Given the description of an element on the screen output the (x, y) to click on. 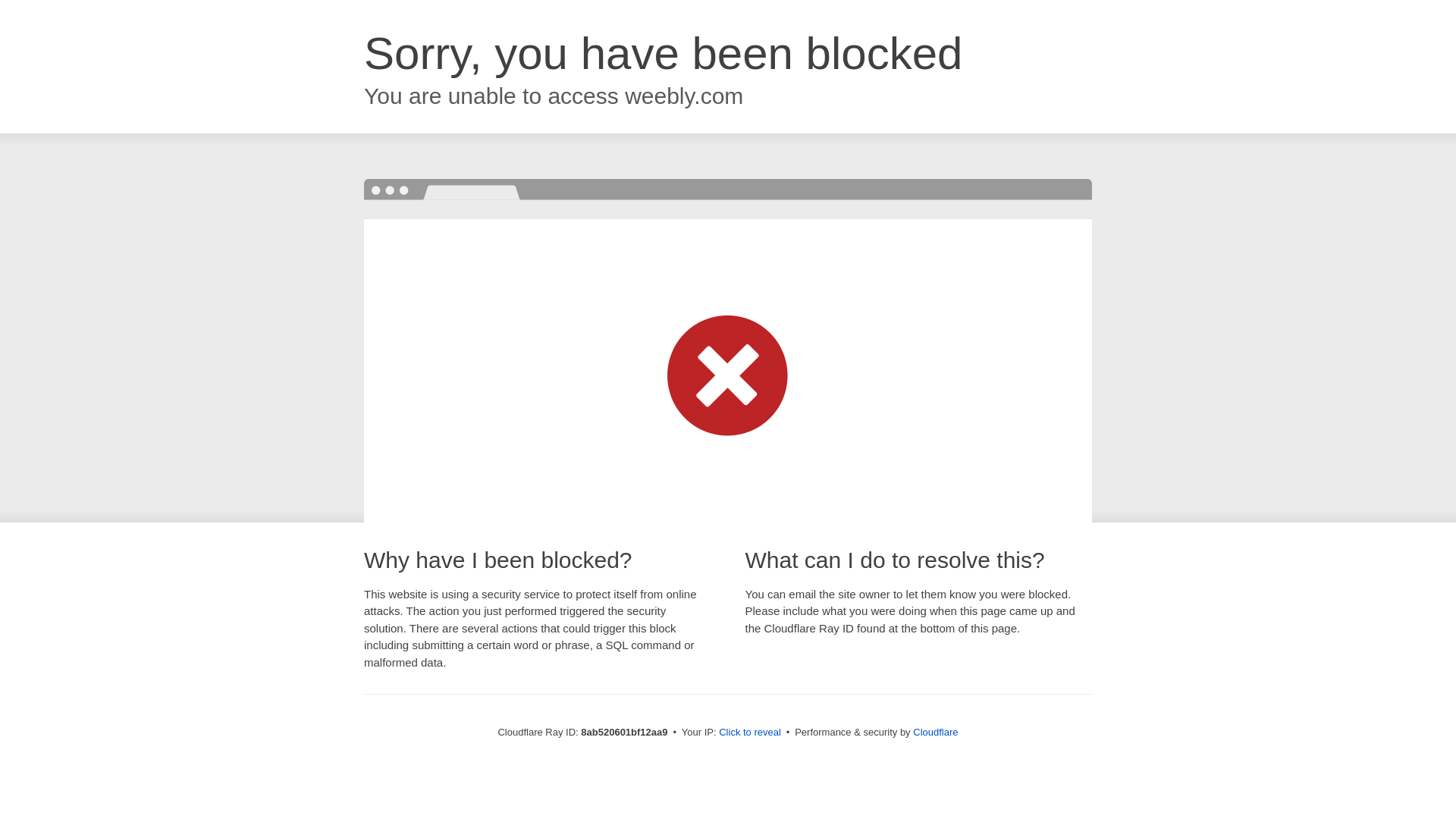
Click to reveal (749, 732)
Cloudflare (935, 731)
